Given the description of an element on the screen output the (x, y) to click on. 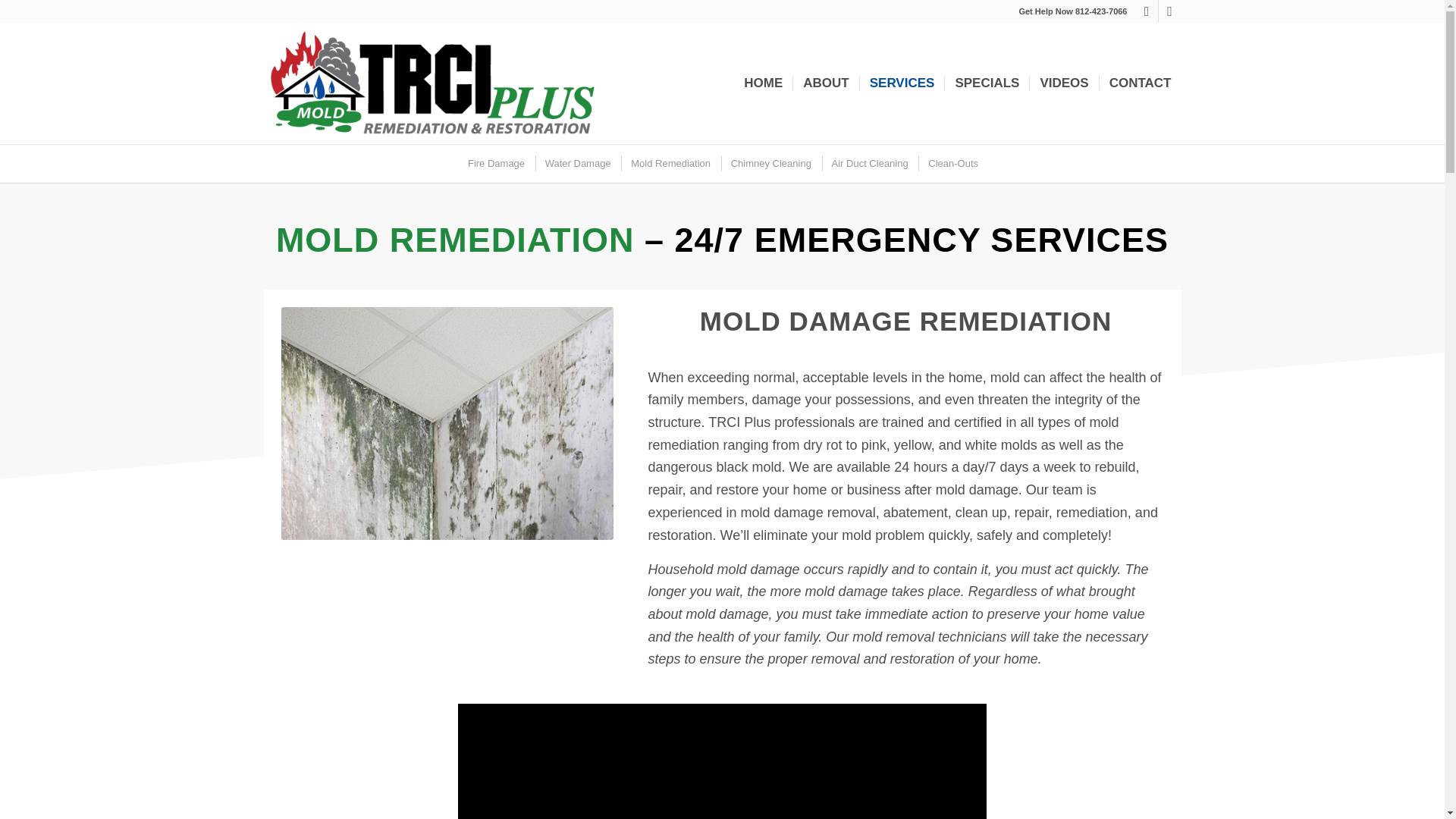
FIRE and WATER Restoration, MOLD Remediation (722, 761)
Facebook (1146, 11)
Fire Damage (495, 163)
Air Duct Cleaning (868, 163)
trci-plus-performs-mold-remediation (446, 423)
Water Damage (576, 163)
812-423-7066 (1100, 10)
Mail (1169, 11)
Mold Remediation (669, 163)
Clean-Outs (951, 163)
trci-plus-logo-550 (431, 83)
Chimney Cleaning (769, 163)
